Given the description of an element on the screen output the (x, y) to click on. 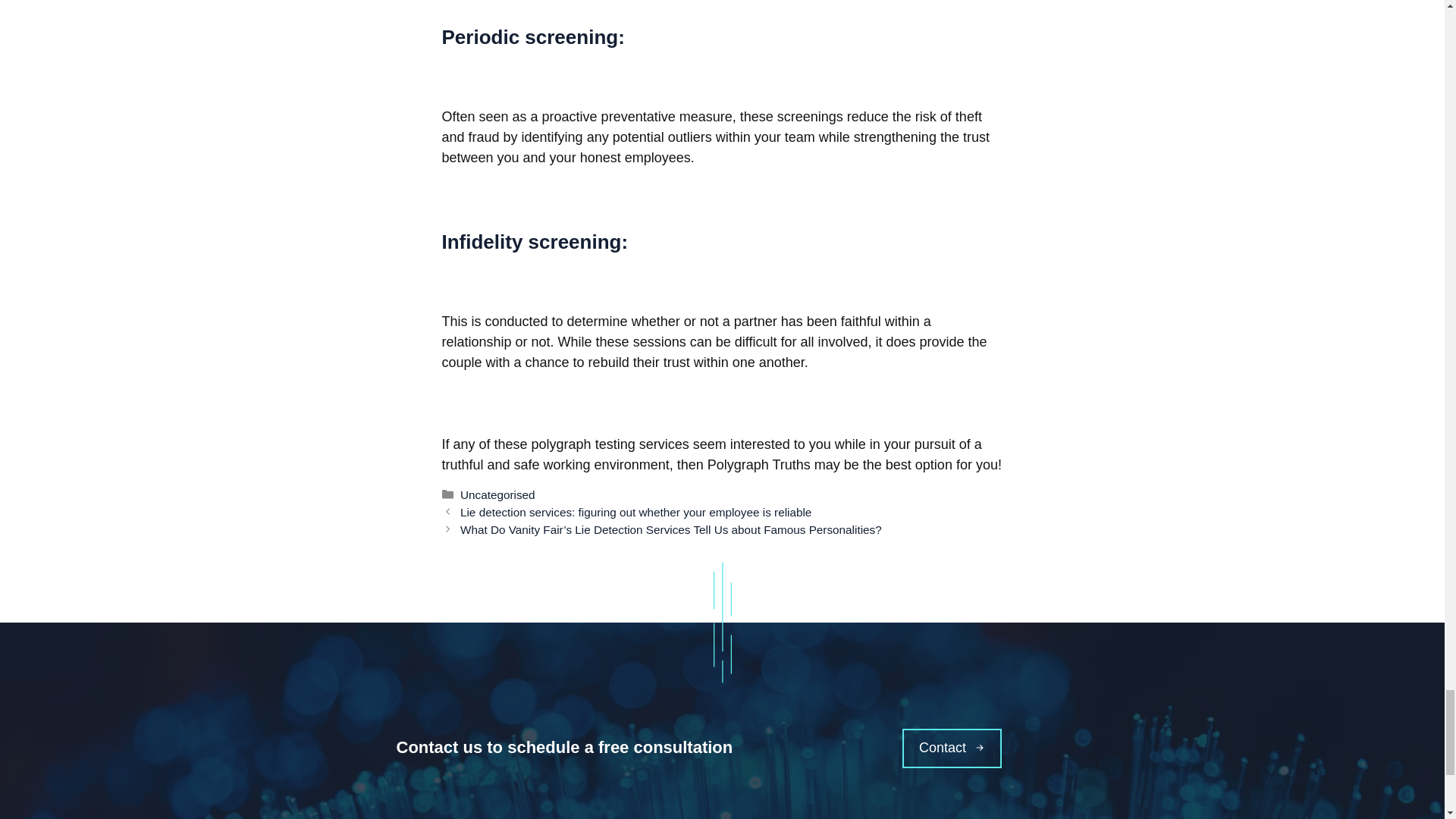
Uncategorised (497, 494)
Contact (951, 748)
